Given the description of an element on the screen output the (x, y) to click on. 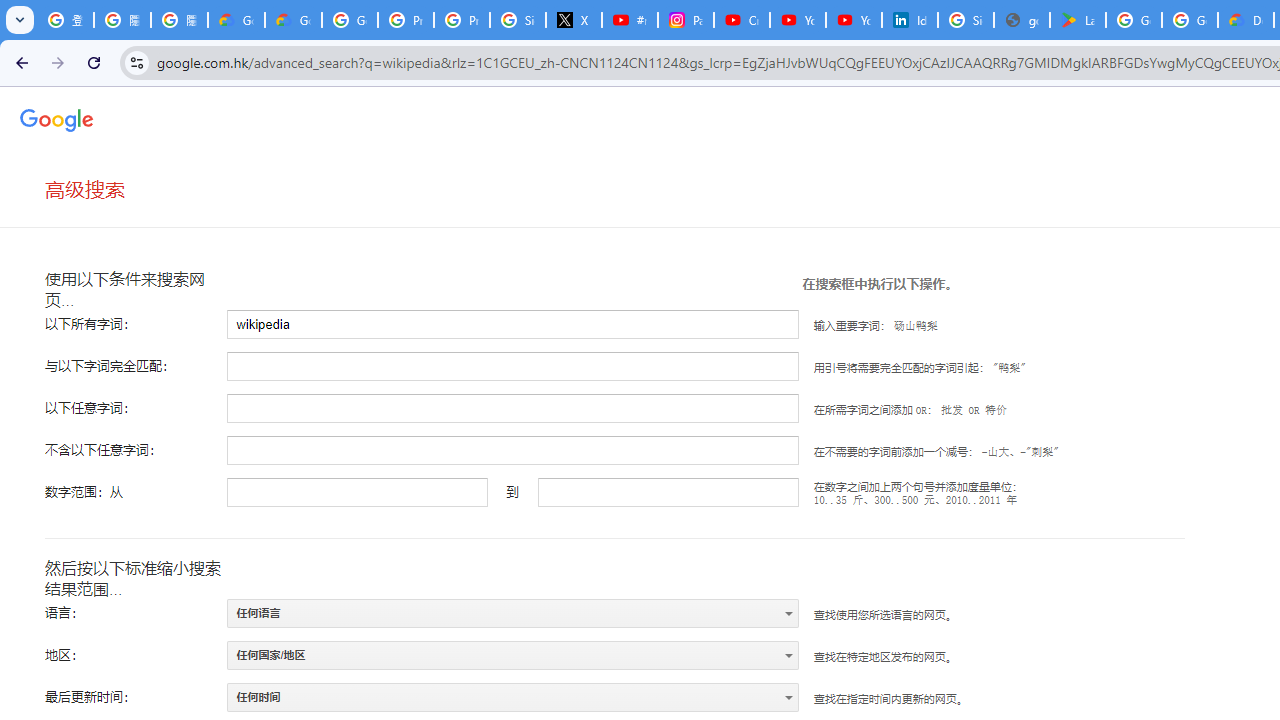
Google Cloud Privacy Notice (293, 20)
Sign in - Google Accounts (518, 20)
X (573, 20)
